Given the description of an element on the screen output the (x, y) to click on. 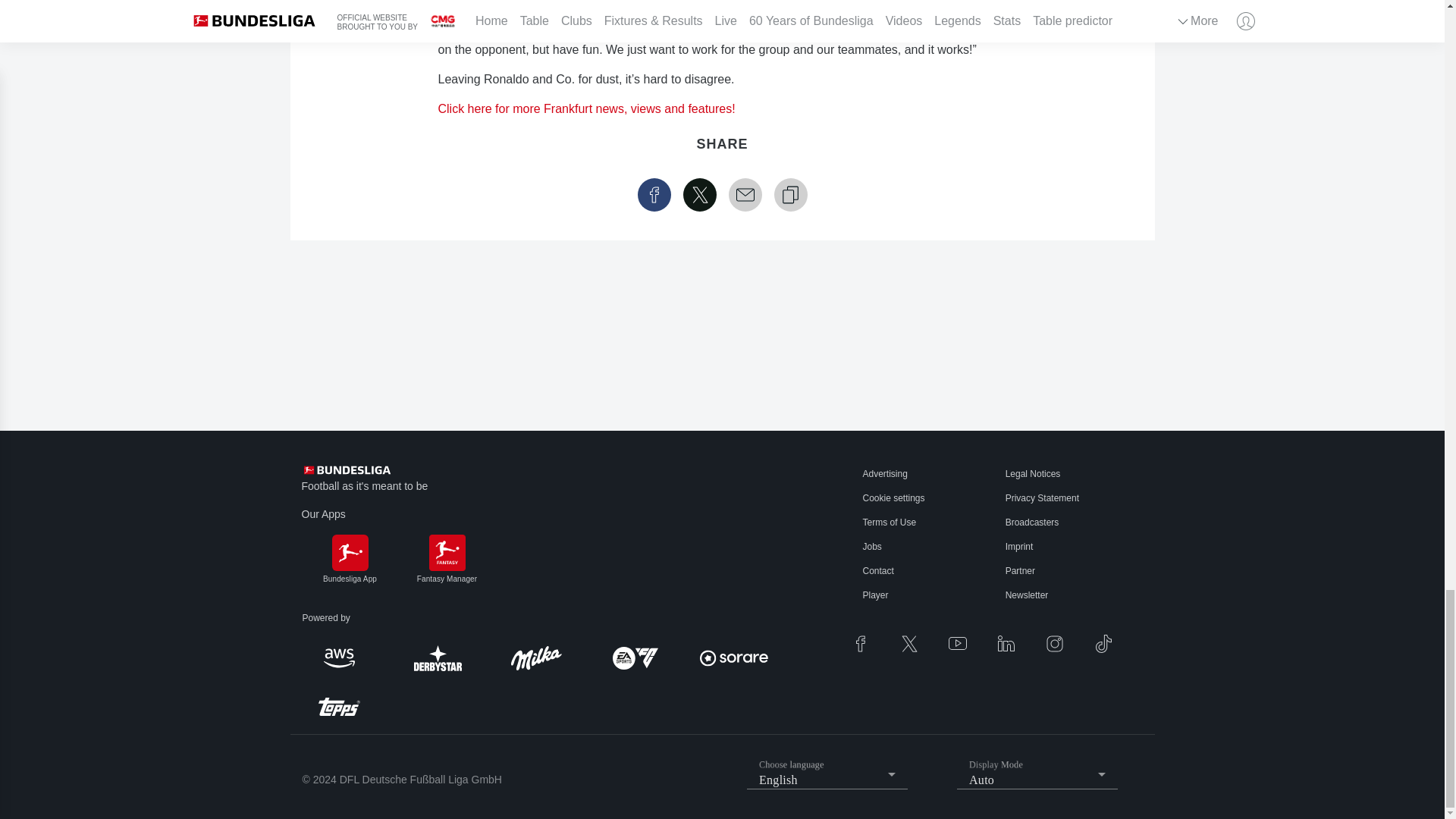
Privacy Statement (1042, 498)
Advertising (885, 473)
milka (536, 657)
sorare (732, 657)
Terms of Use (890, 521)
topps (338, 706)
Cookie settings (893, 498)
derbystar (437, 657)
Broadcasters (1032, 521)
aws (338, 658)
Legal Notices (1033, 473)
ea (634, 657)
